Given the description of an element on the screen output the (x, y) to click on. 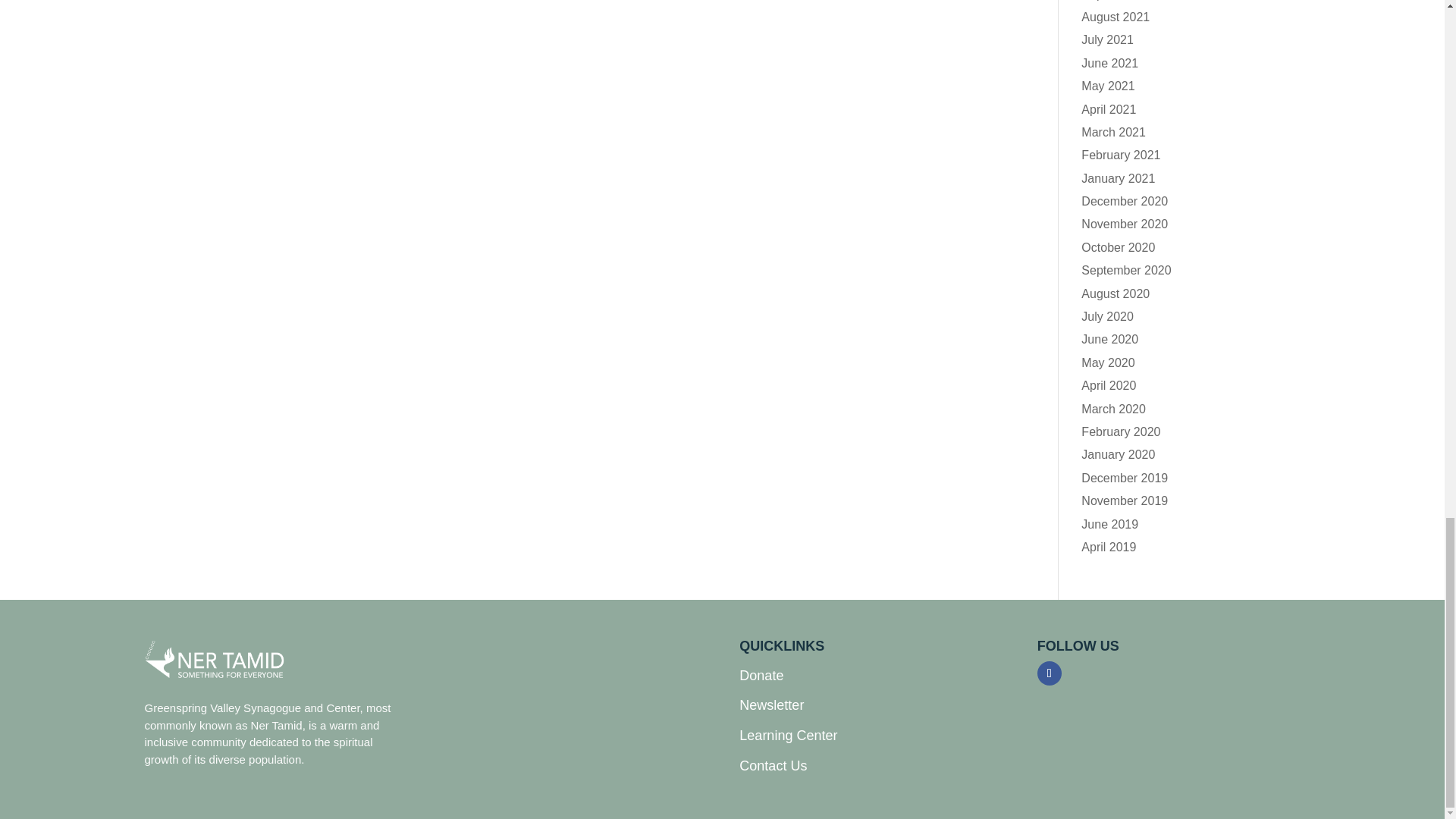
Follow on Facebook (1048, 672)
White-Logo-Ner-Tamid (214, 660)
